Given the description of an element on the screen output the (x, y) to click on. 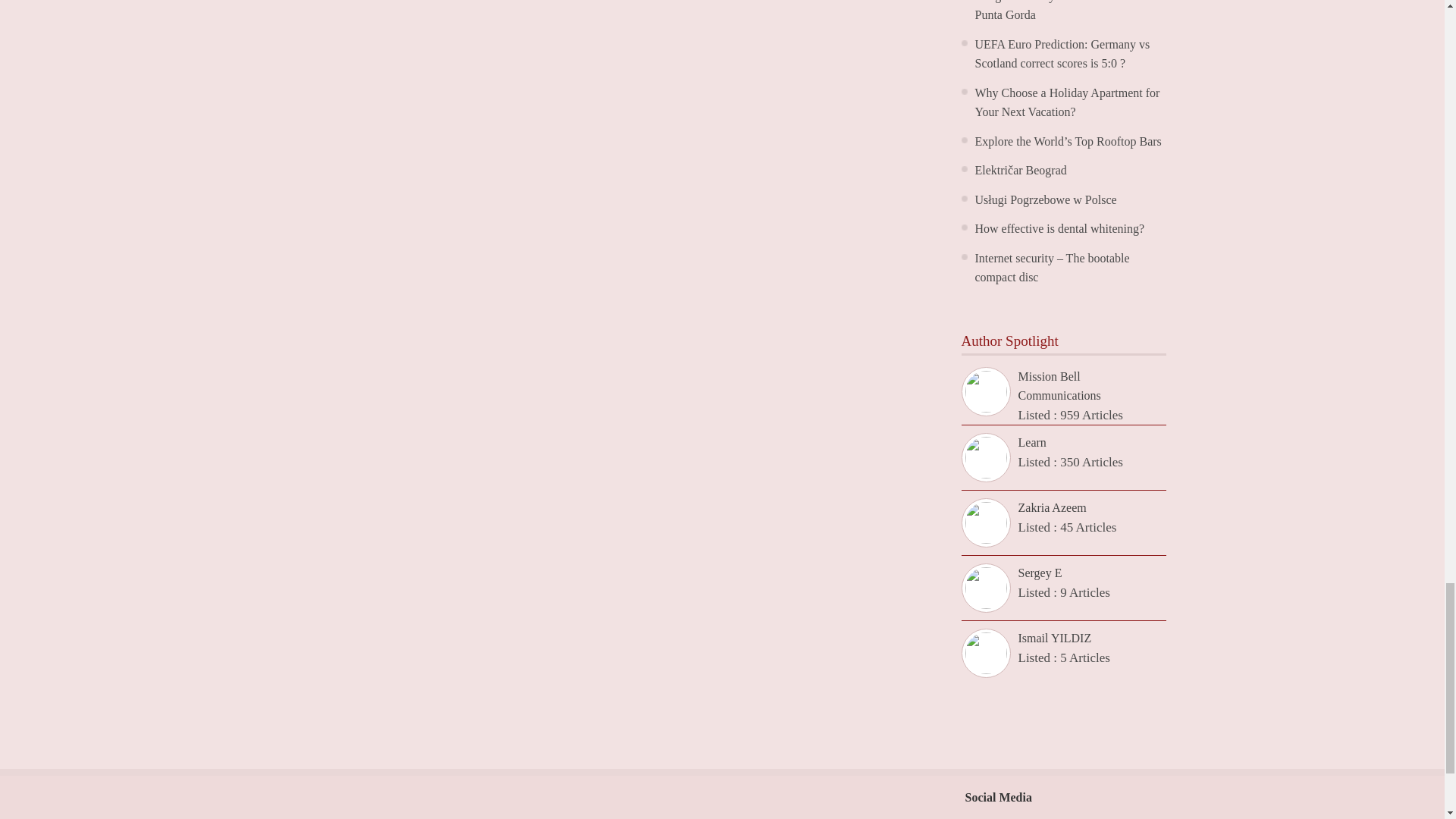
Why Choose a Holiday Apartment for Your Next Vacation? (1067, 102)
Budget-Friendly Vacation Rentals in Punta Gorda (1064, 11)
